Given the description of an element on the screen output the (x, y) to click on. 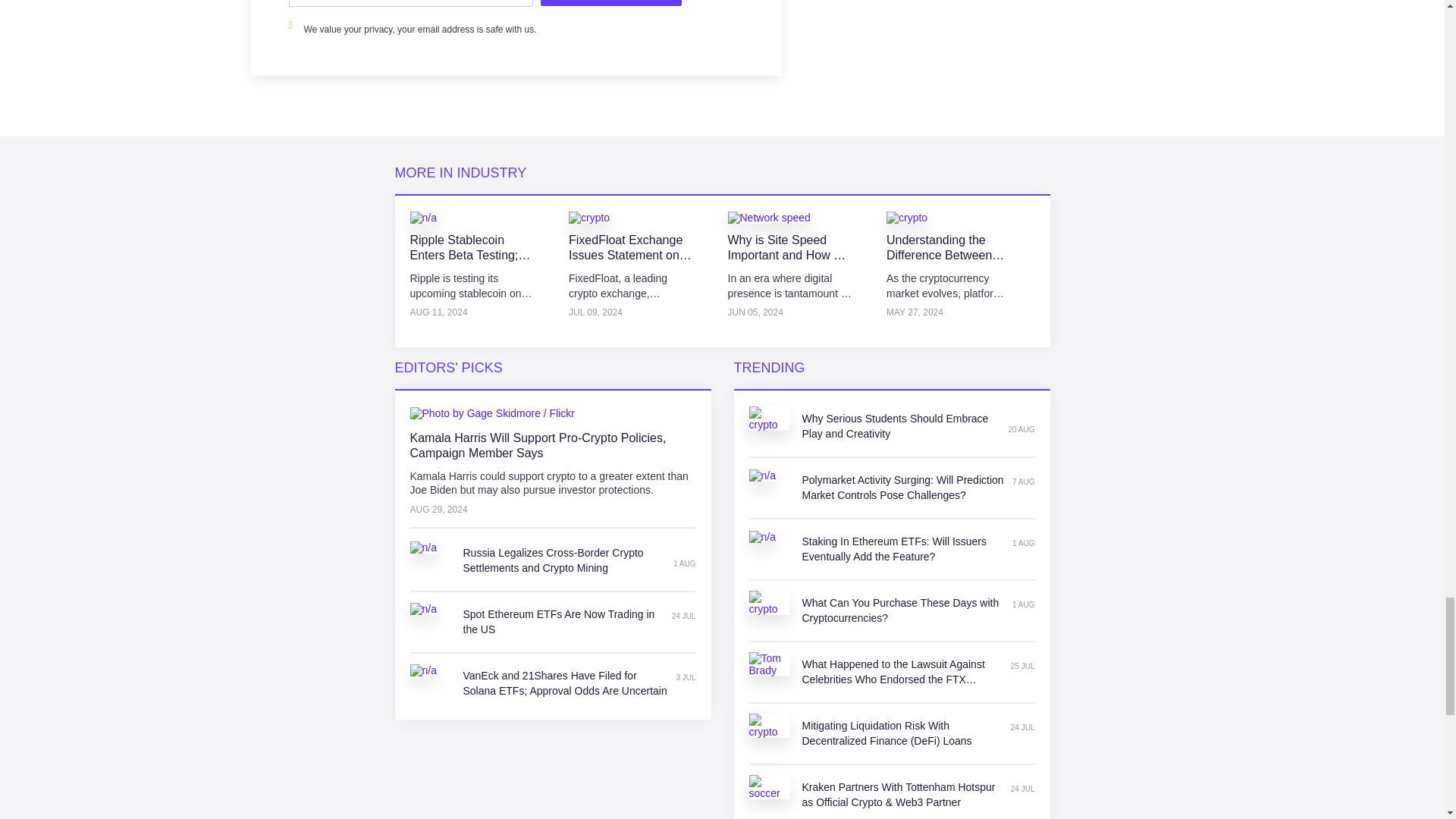
Monday, May 27, 2024 (948, 312)
Tuesday, July 09, 2024 (631, 312)
SUBSCRIBE (610, 2)
Sunday, August 11, 2024 (471, 312)
Wednesday, June 05, 2024 (789, 312)
Thursday, August 29, 2024 (552, 509)
Thursday, August 01, 2024 (683, 563)
